Given the description of an element on the screen output the (x, y) to click on. 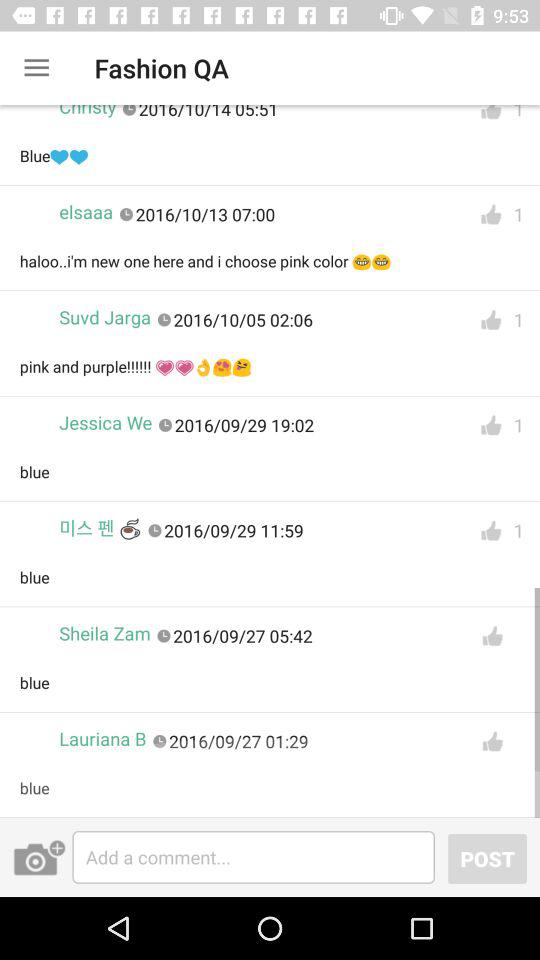
flip until christy icon (87, 115)
